Given the description of an element on the screen output the (x, y) to click on. 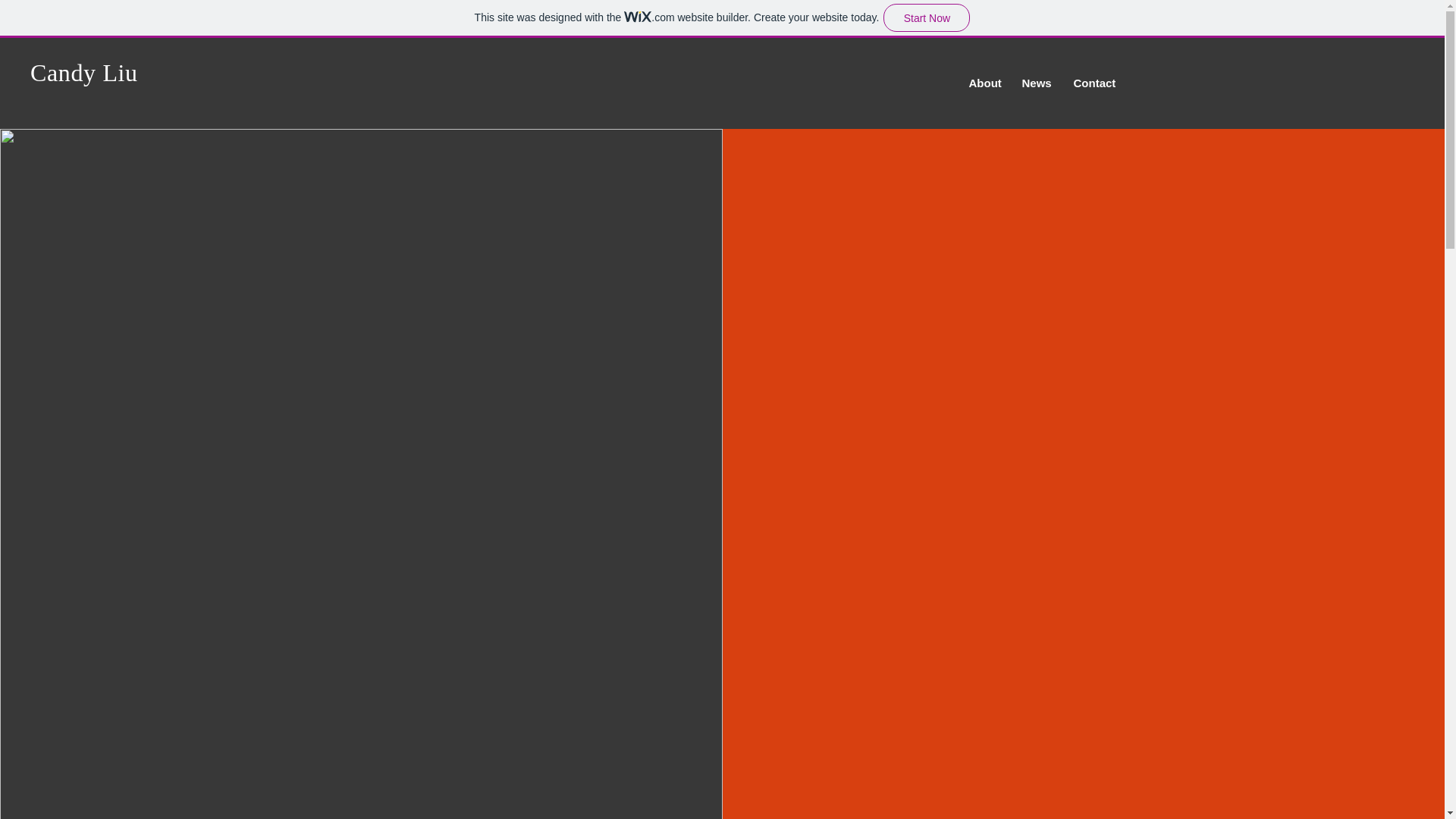
Contact (1092, 83)
About (983, 83)
News (1035, 83)
Candy Liu (84, 72)
